Given the description of an element on the screen output the (x, y) to click on. 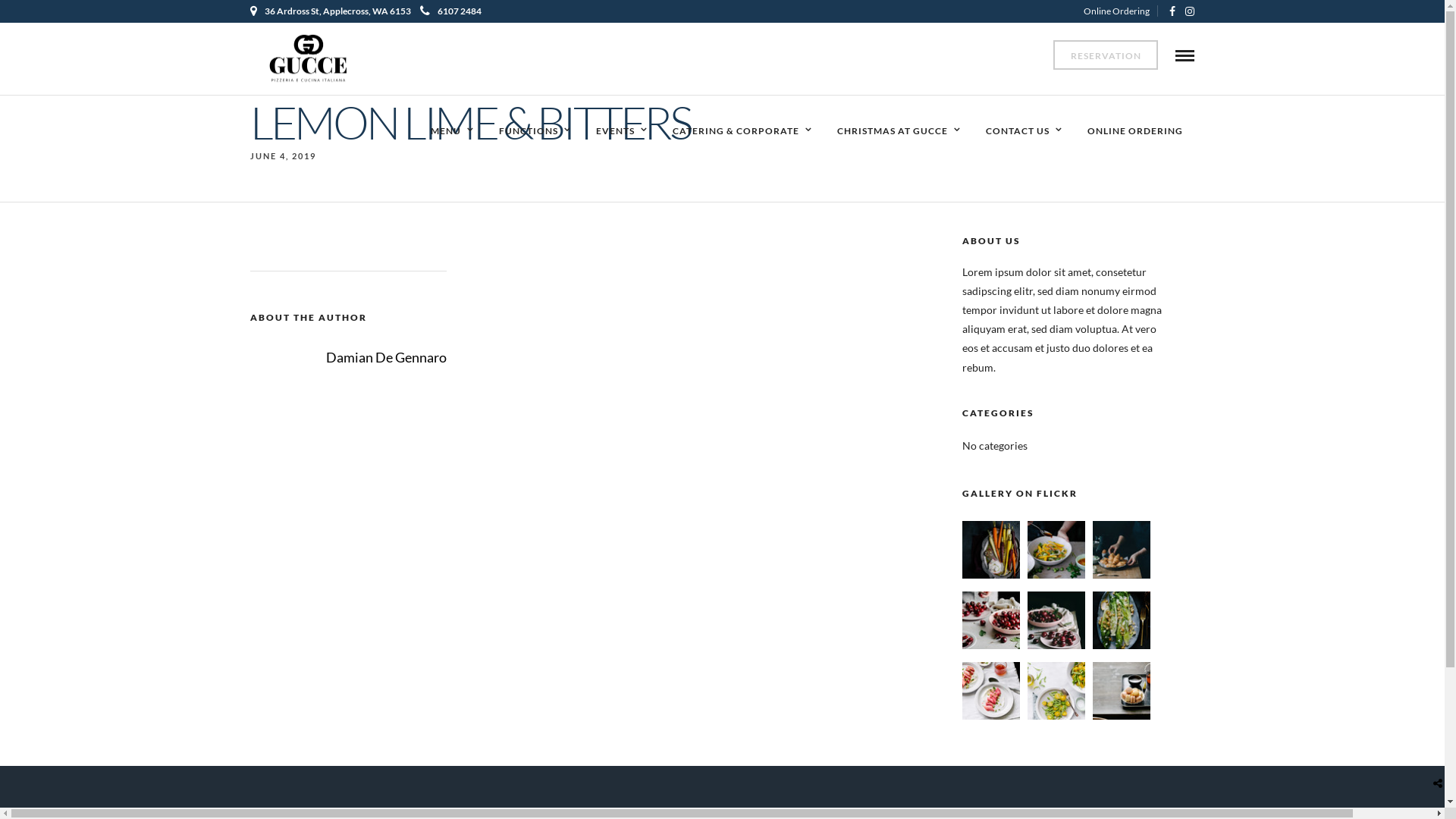
cherry Element type: hover (1056, 644)
croissant morning Element type: hover (1121, 573)
roasted rhubarb with yogurt, mint, pistachio Element type: hover (990, 715)
ONLINE ORDERING Element type: text (1135, 131)
CHRISTMAS AT GUCCE Element type: text (898, 131)
can't get enough of cherries Element type: hover (990, 644)
CONTACT US Element type: text (1023, 131)
Instagram Element type: hover (1189, 11)
roasted carrots Element type: hover (990, 573)
macarons and tea Element type: hover (1121, 715)
green mango and cucamelon salad Element type: hover (1056, 573)
RESERVATION Element type: text (1105, 54)
EVENTS Element type: text (621, 131)
Romaine Wedge Caesar Salad Element type: hover (1121, 644)
FUNCTIONS Element type: text (534, 131)
Online Ordering Element type: text (1120, 10)
6107 2484 Element type: text (450, 10)
MENU Element type: text (452, 131)
radish pod and tomato salad Element type: hover (1056, 715)
CATERING & CORPORATE Element type: text (742, 131)
